Given the description of an element on the screen output the (x, y) to click on. 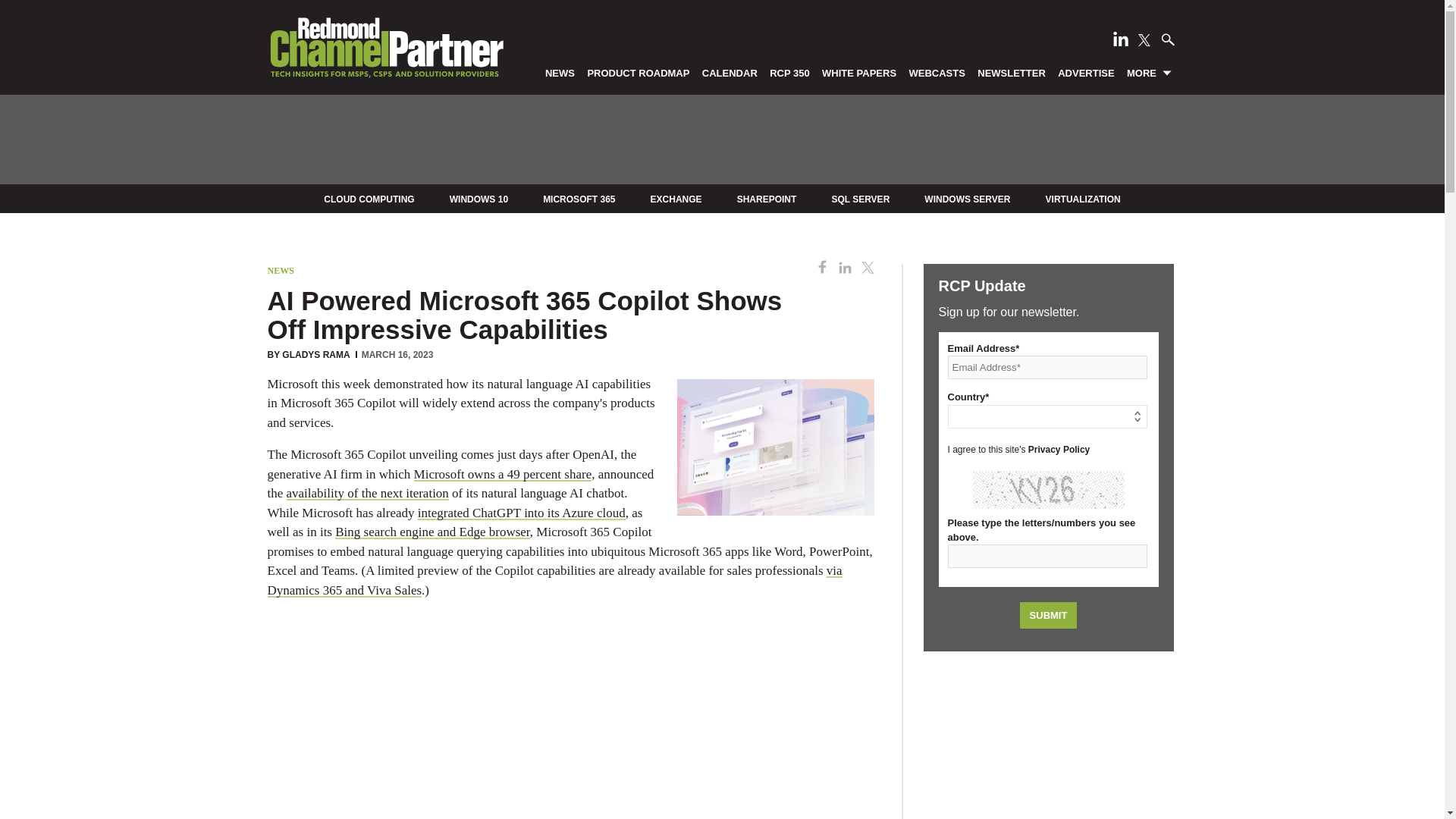
SQL SERVER (860, 199)
CALENDAR (729, 72)
3rd party ad content (721, 140)
WINDOWS SERVER (967, 199)
WINDOWS 10 (478, 199)
EXCHANGE (675, 199)
3rd party ad content (570, 724)
ADVERTISE (1085, 72)
MORE (1149, 72)
RCP 350 (790, 72)
NEWS (280, 270)
GLADYS RAMA (315, 354)
WEBCASTS (936, 72)
Submit (1048, 614)
MICROSOFT 365 (578, 199)
